Given the description of an element on the screen output the (x, y) to click on. 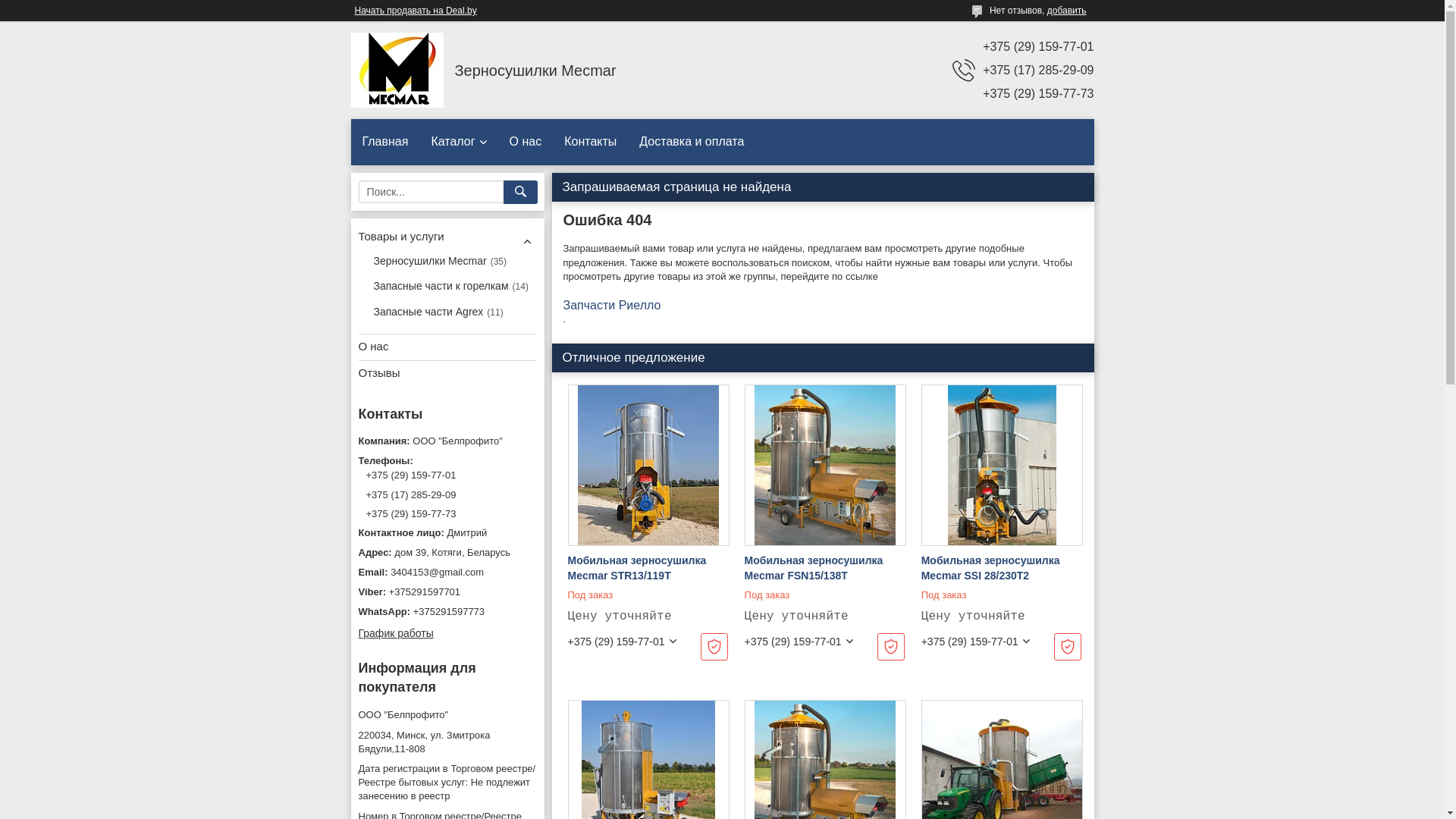
3404153@gmail.com Element type: text (446, 572)
